Given the description of an element on the screen output the (x, y) to click on. 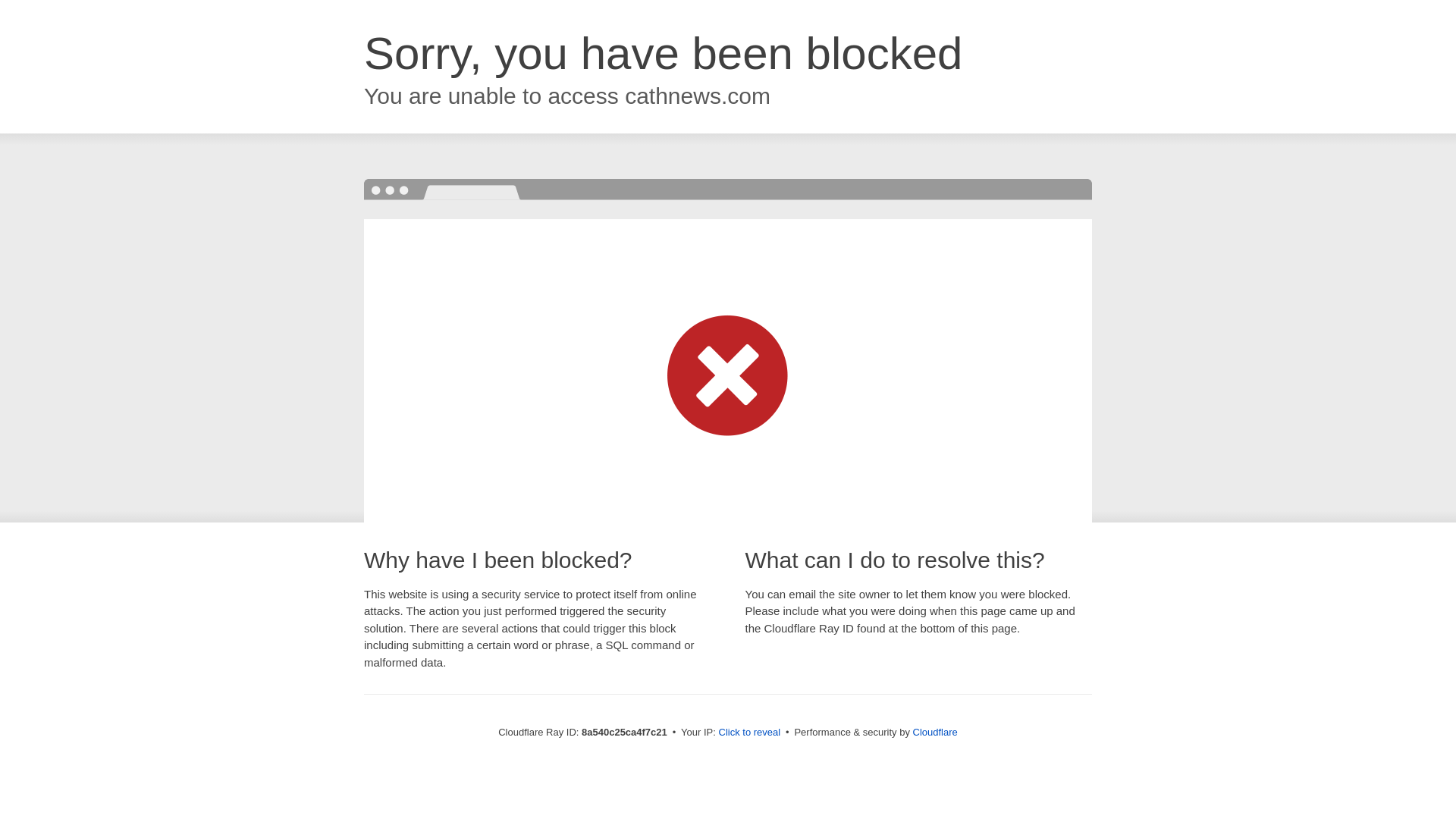
Click to reveal (749, 732)
Cloudflare (935, 731)
